Given the description of an element on the screen output the (x, y) to click on. 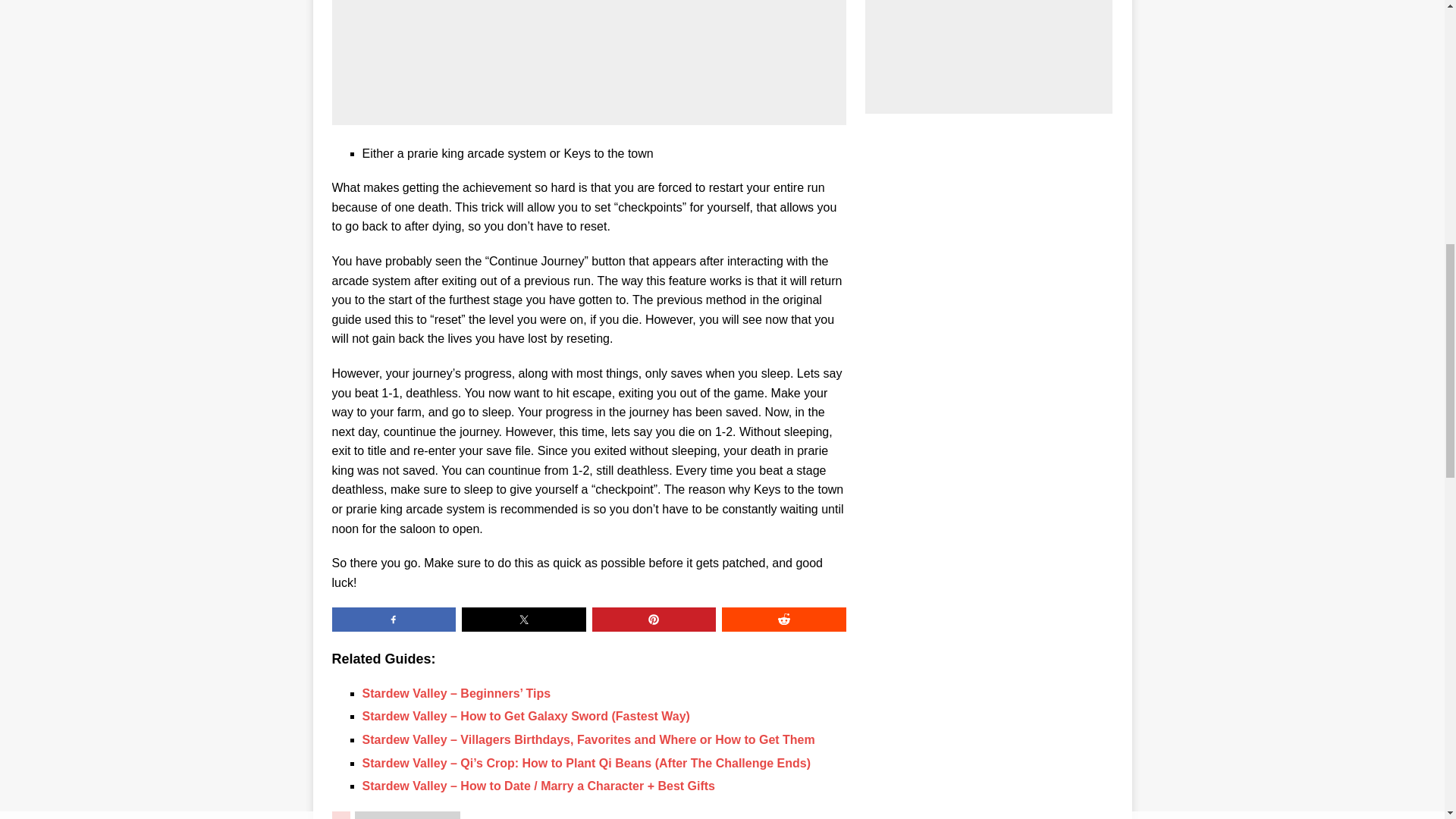
STARDEW VALLEY (408, 815)
